Given the description of an element on the screen output the (x, y) to click on. 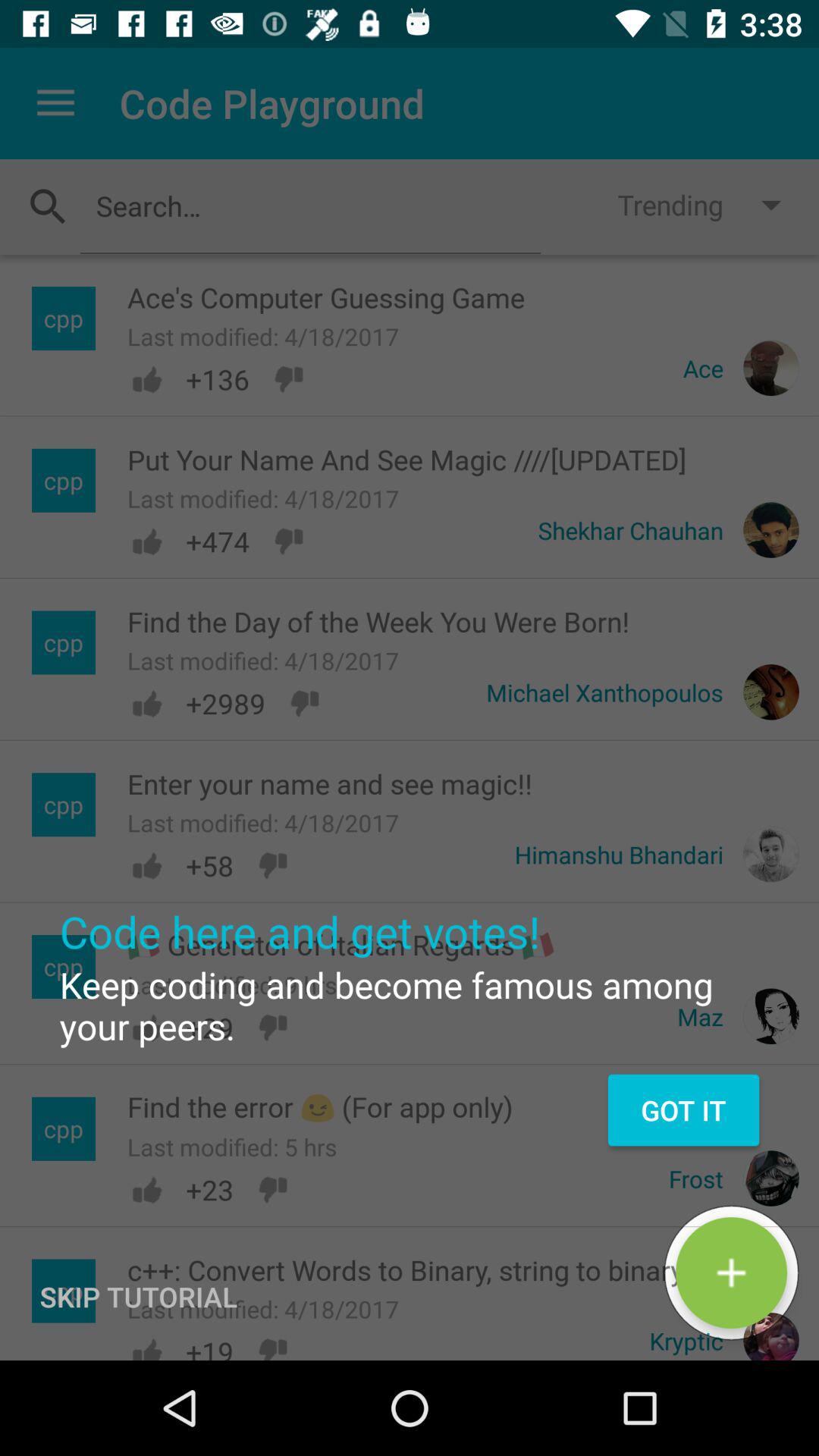
tap icon next to the find the error icon (683, 1109)
